Given the description of an element on the screen output the (x, y) to click on. 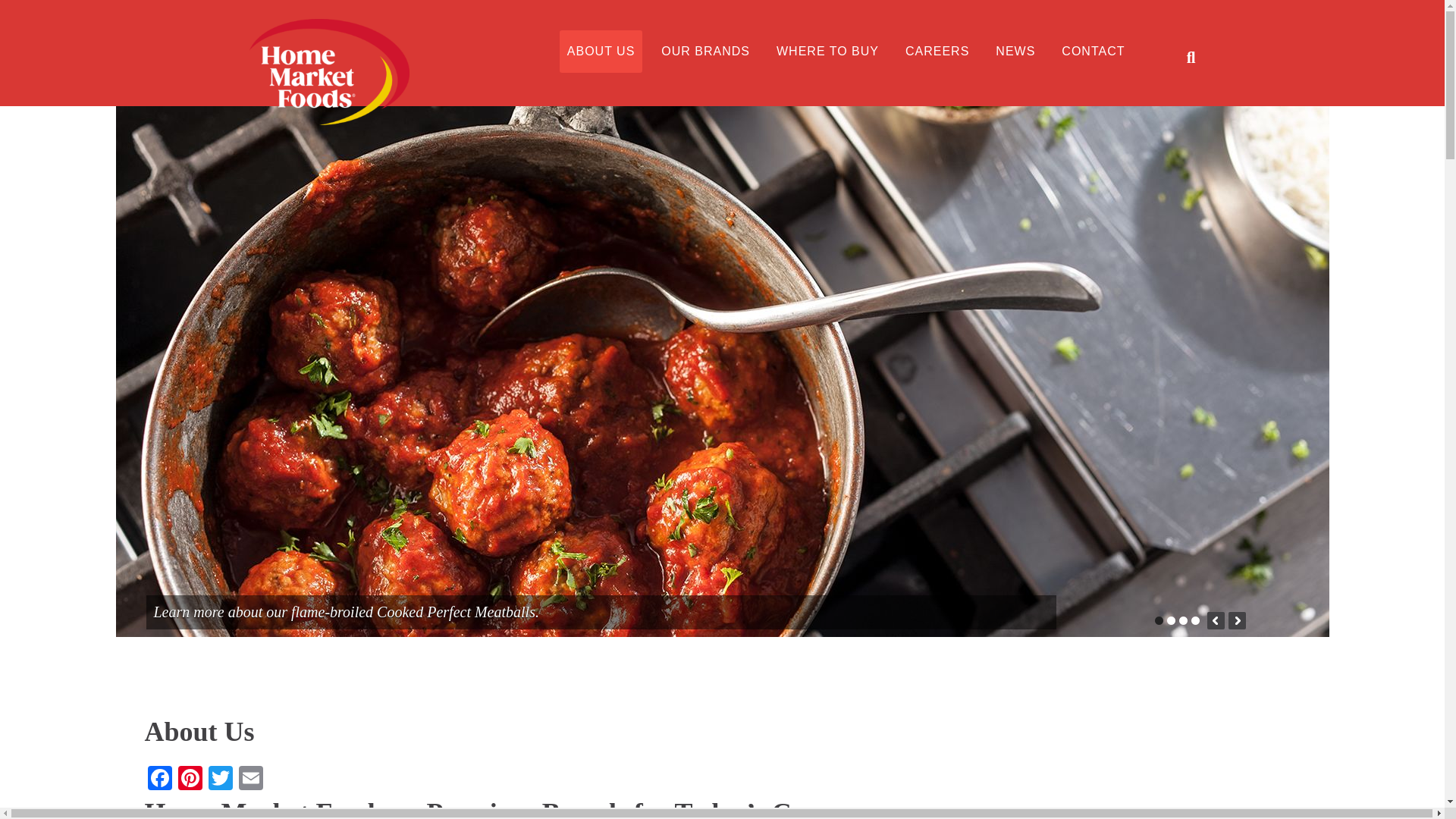
CAREERS (937, 51)
CONTACT (1093, 51)
Twitter (219, 779)
OUR BRANDS (705, 51)
Home Market Foods (378, 71)
3 (1181, 620)
Pinterest (189, 779)
4 (1194, 620)
